Given the description of an element on the screen output the (x, y) to click on. 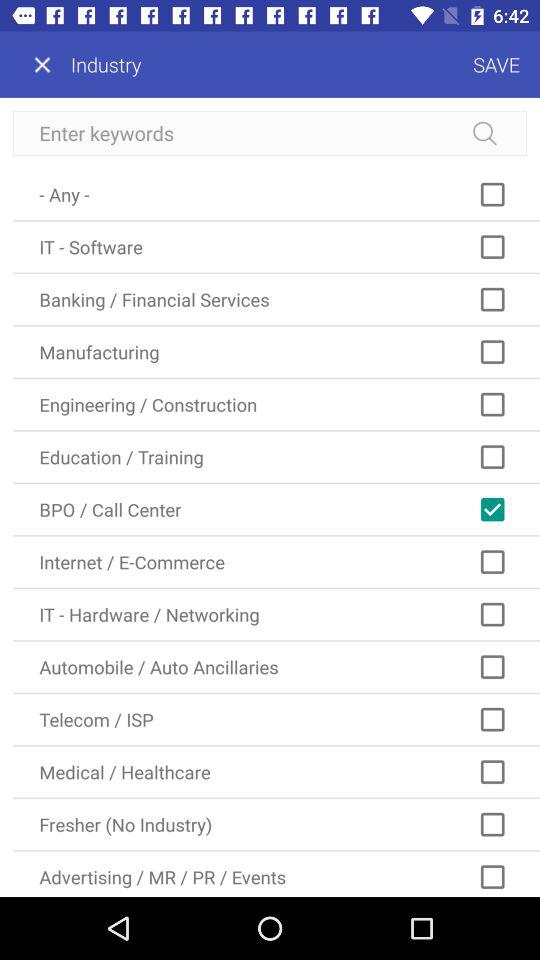
select item below internet / e-commerce (276, 614)
